Given the description of an element on the screen output the (x, y) to click on. 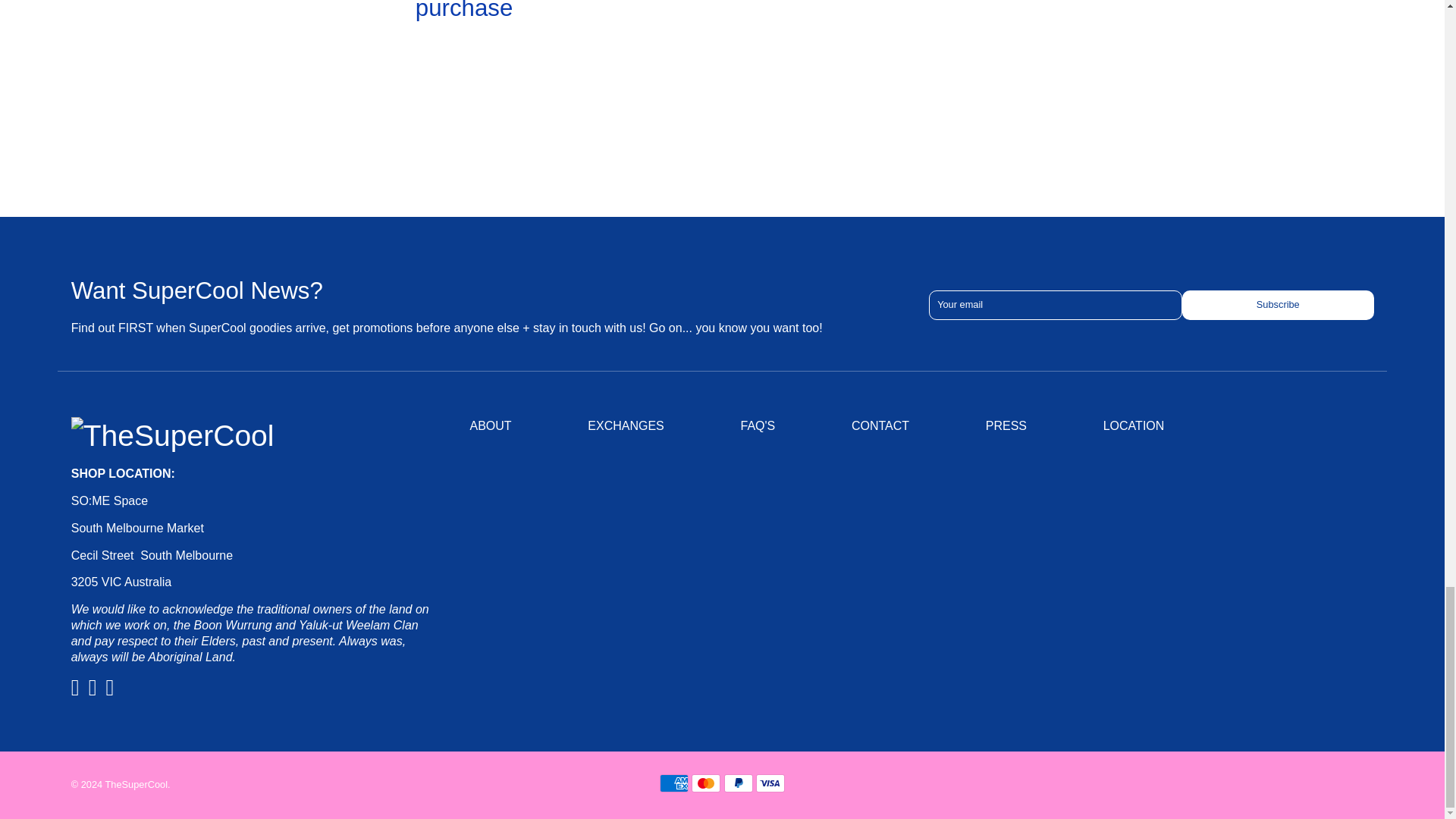
American Express (673, 783)
Visa (769, 783)
Mastercard (705, 783)
PayPal (737, 783)
